Given the description of an element on the screen output the (x, y) to click on. 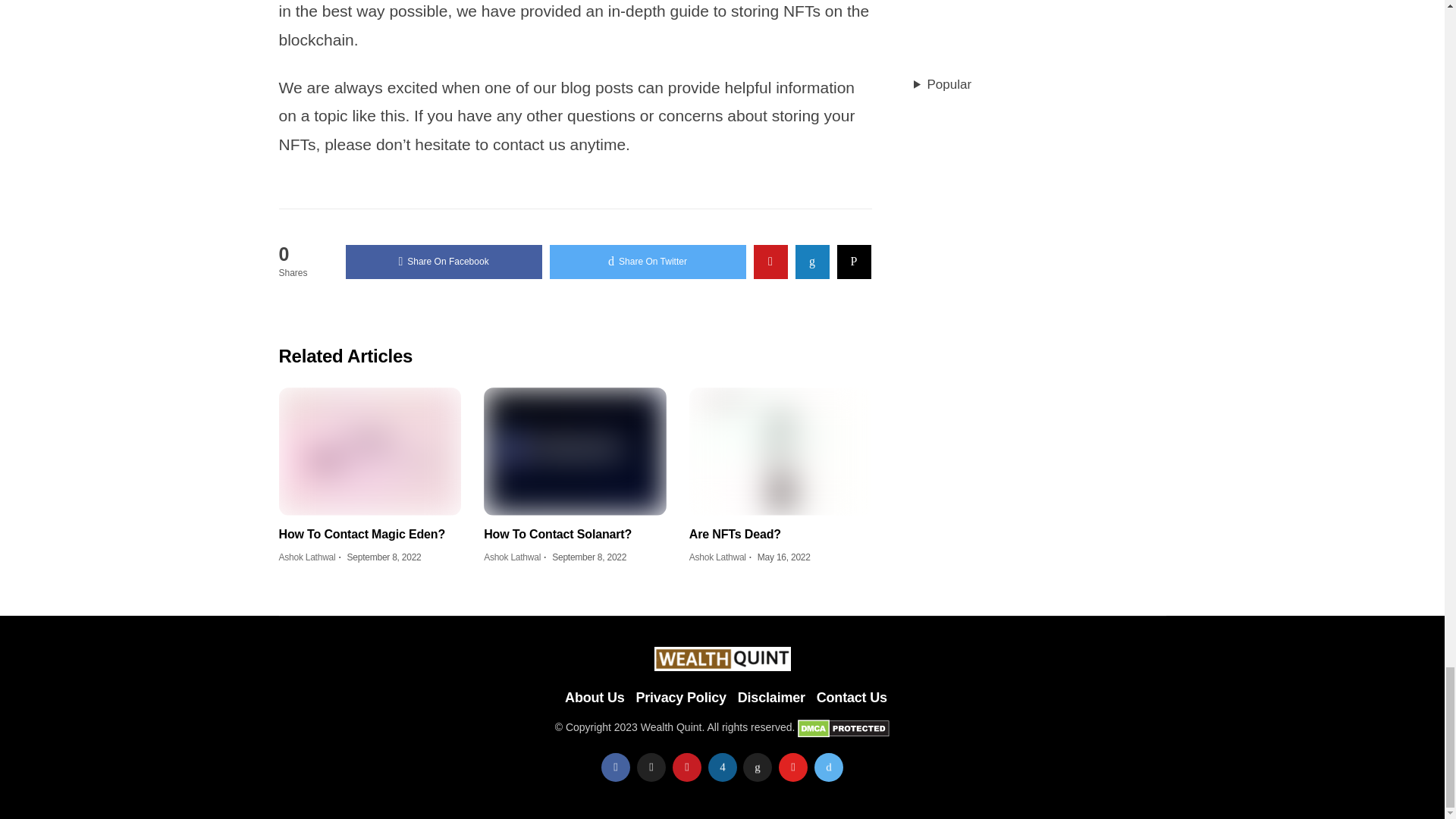
Are NFTs Dead? 6 (780, 451)
Posts by Ashok Lathwal (716, 557)
Posts by Ashok Lathwal (307, 557)
Posts by Ashok Lathwal (511, 557)
How To Contact Magic Eden? 4 (370, 451)
How To Contact Solanart? 5 (574, 451)
